Given the description of an element on the screen output the (x, y) to click on. 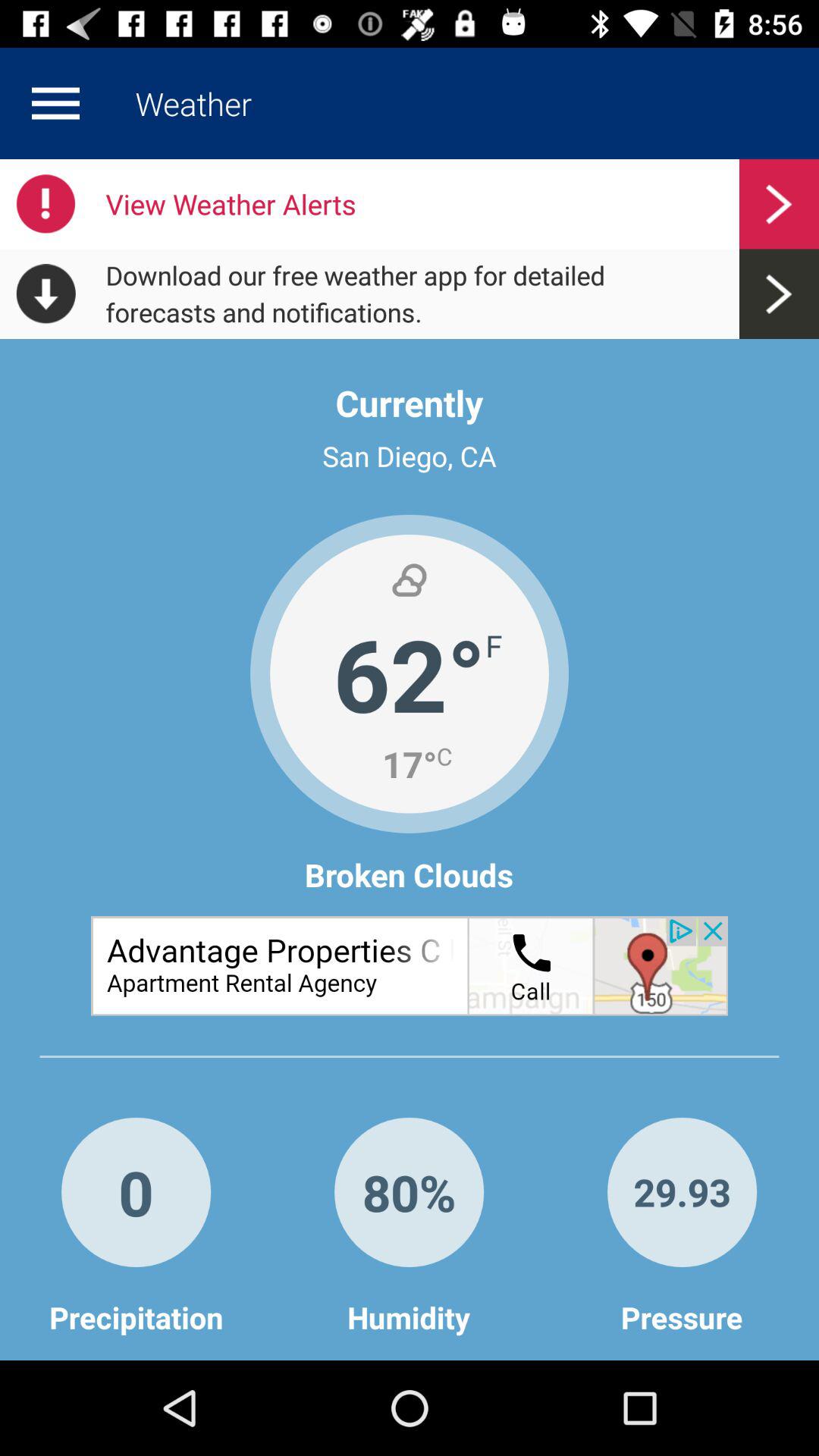
advertisement (409, 965)
